Given the description of an element on the screen output the (x, y) to click on. 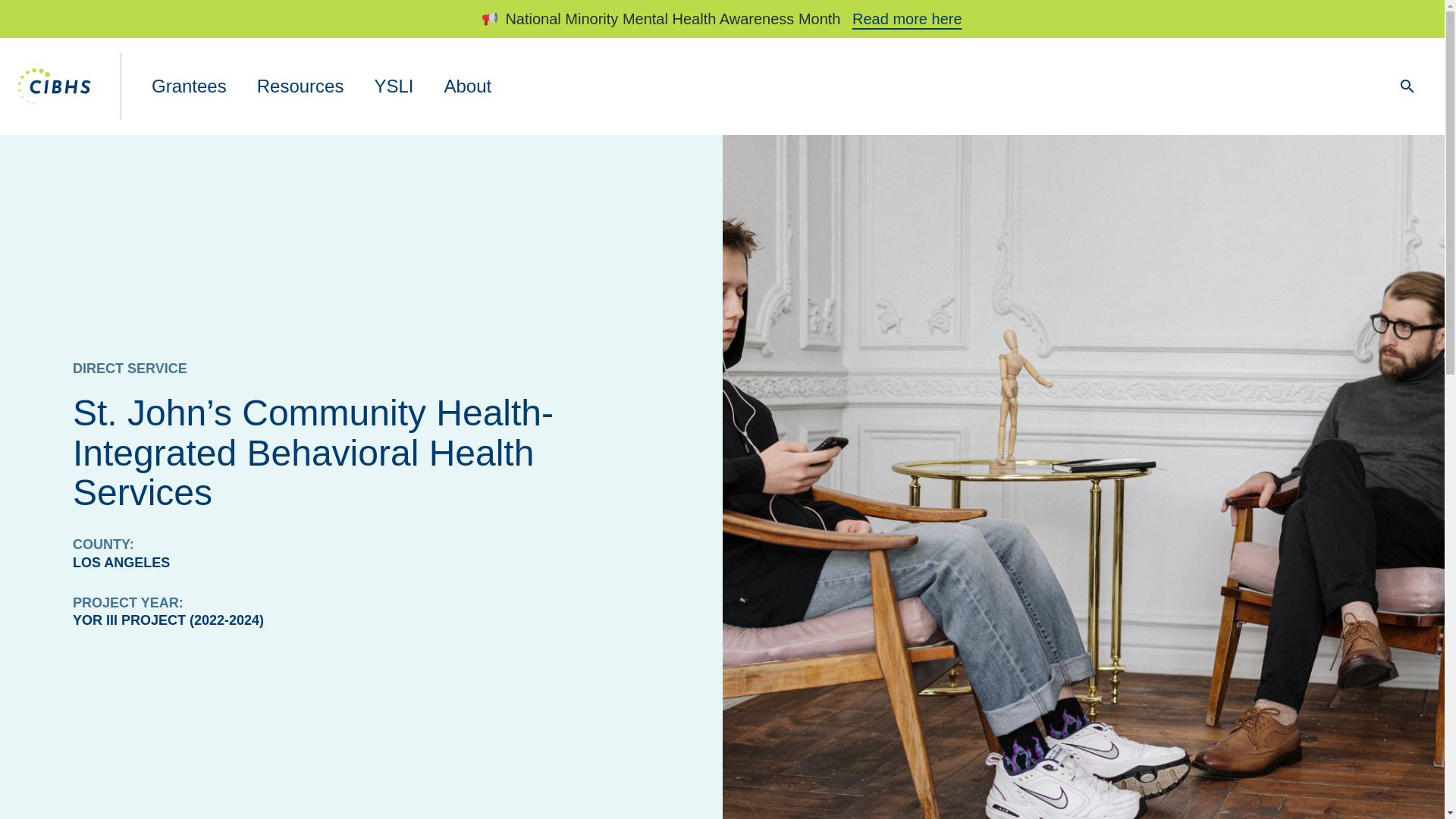
YSLI (393, 85)
About (467, 85)
Grantees (188, 85)
Resources (300, 85)
Read more here (906, 18)
